Given the description of an element on the screen output the (x, y) to click on. 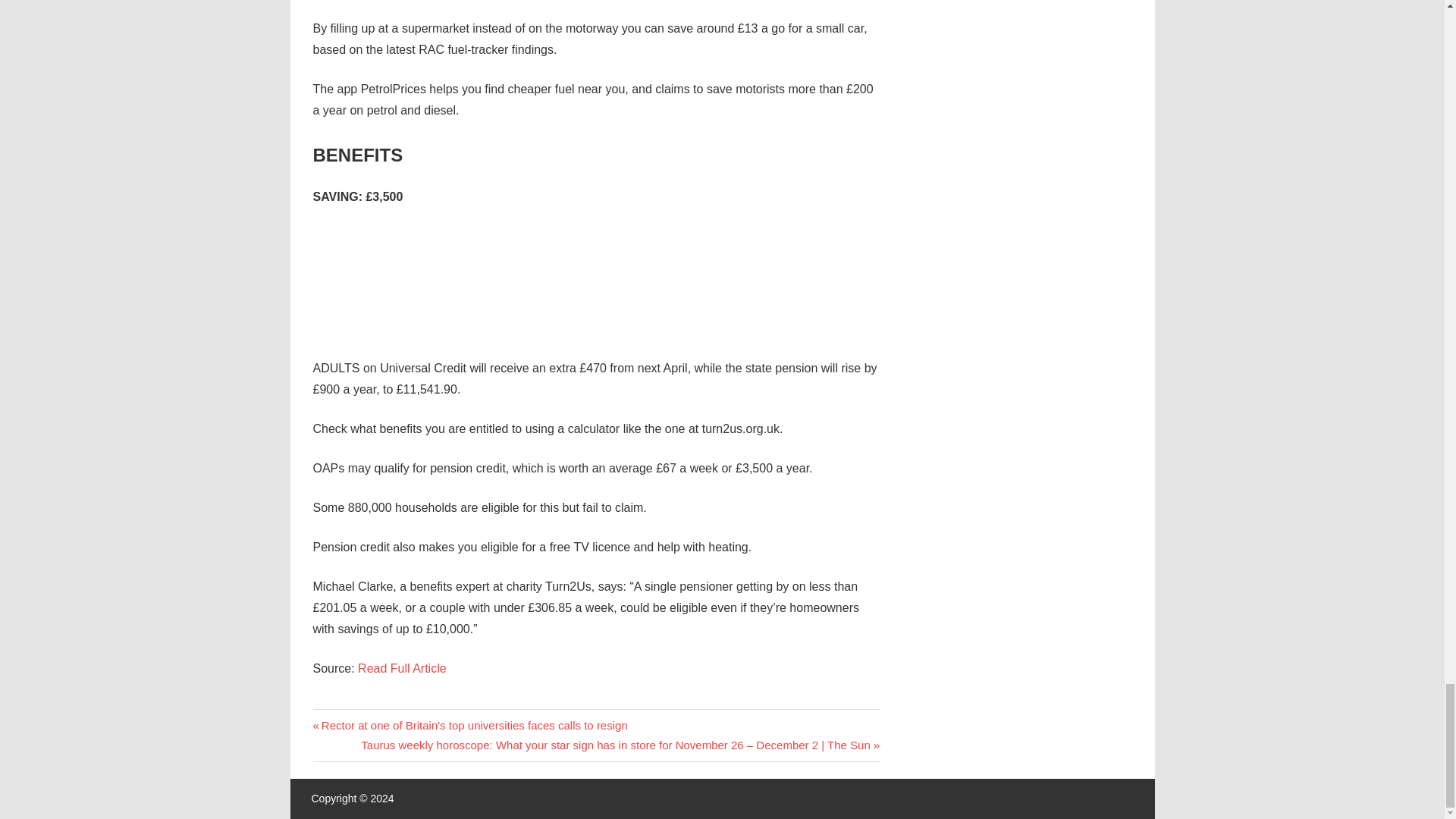
Read Full Article (402, 667)
